Given the description of an element on the screen output the (x, y) to click on. 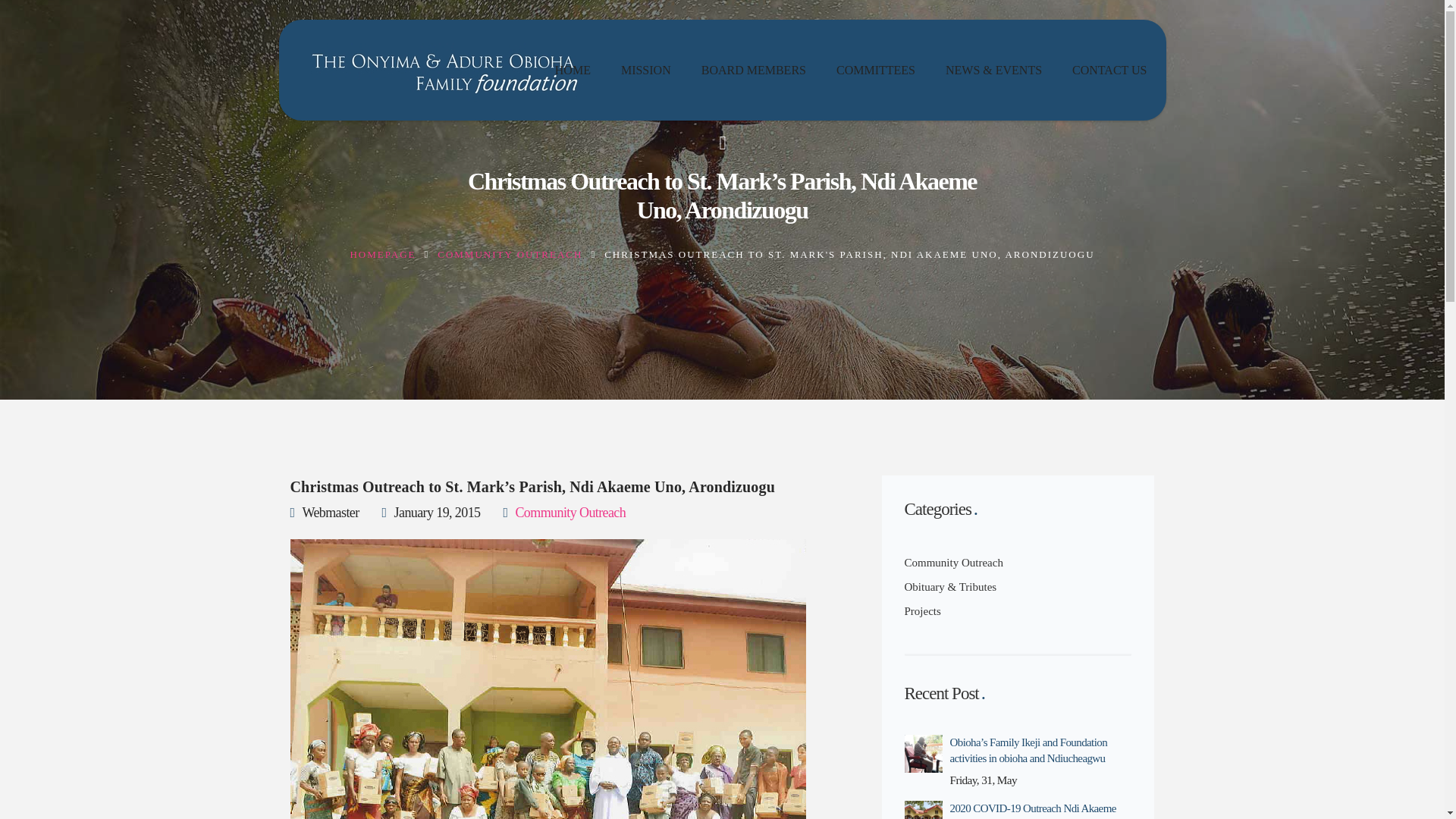
COMMITTEES (875, 69)
HOMEPAGE (381, 254)
BOARD MEMBERS (753, 69)
MISSION (646, 69)
Projects (922, 610)
CONTACT US (1109, 69)
Post in category (564, 512)
COMMUNITY OUTREACH (510, 254)
Community Outreach (953, 562)
Post by (323, 512)
Community Outreach (570, 512)
HOME (572, 69)
Post date (430, 512)
